Given the description of an element on the screen output the (x, y) to click on. 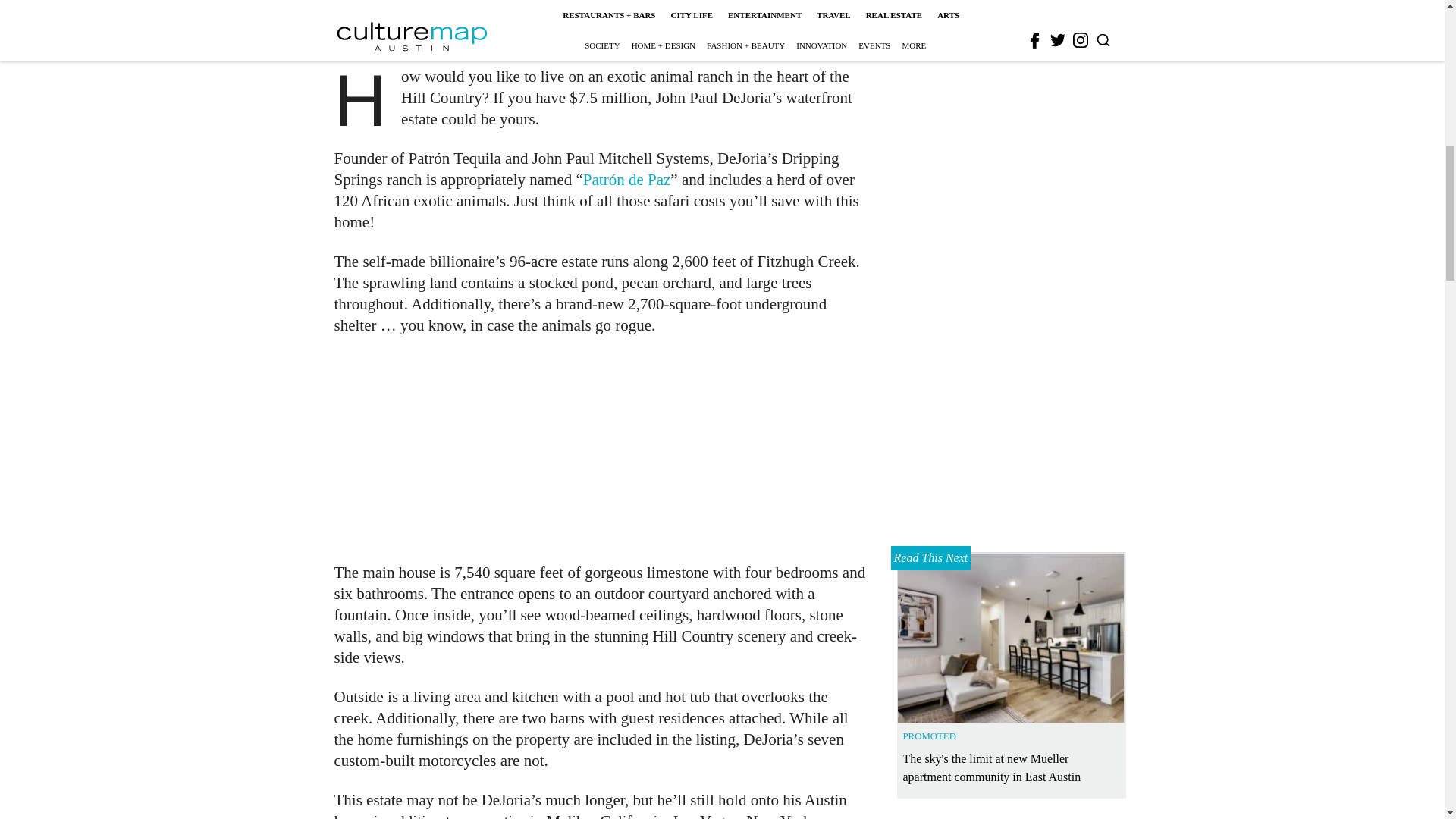
3rd party ad content (600, 448)
3rd party ad content (1011, 4)
